Given the description of an element on the screen output the (x, y) to click on. 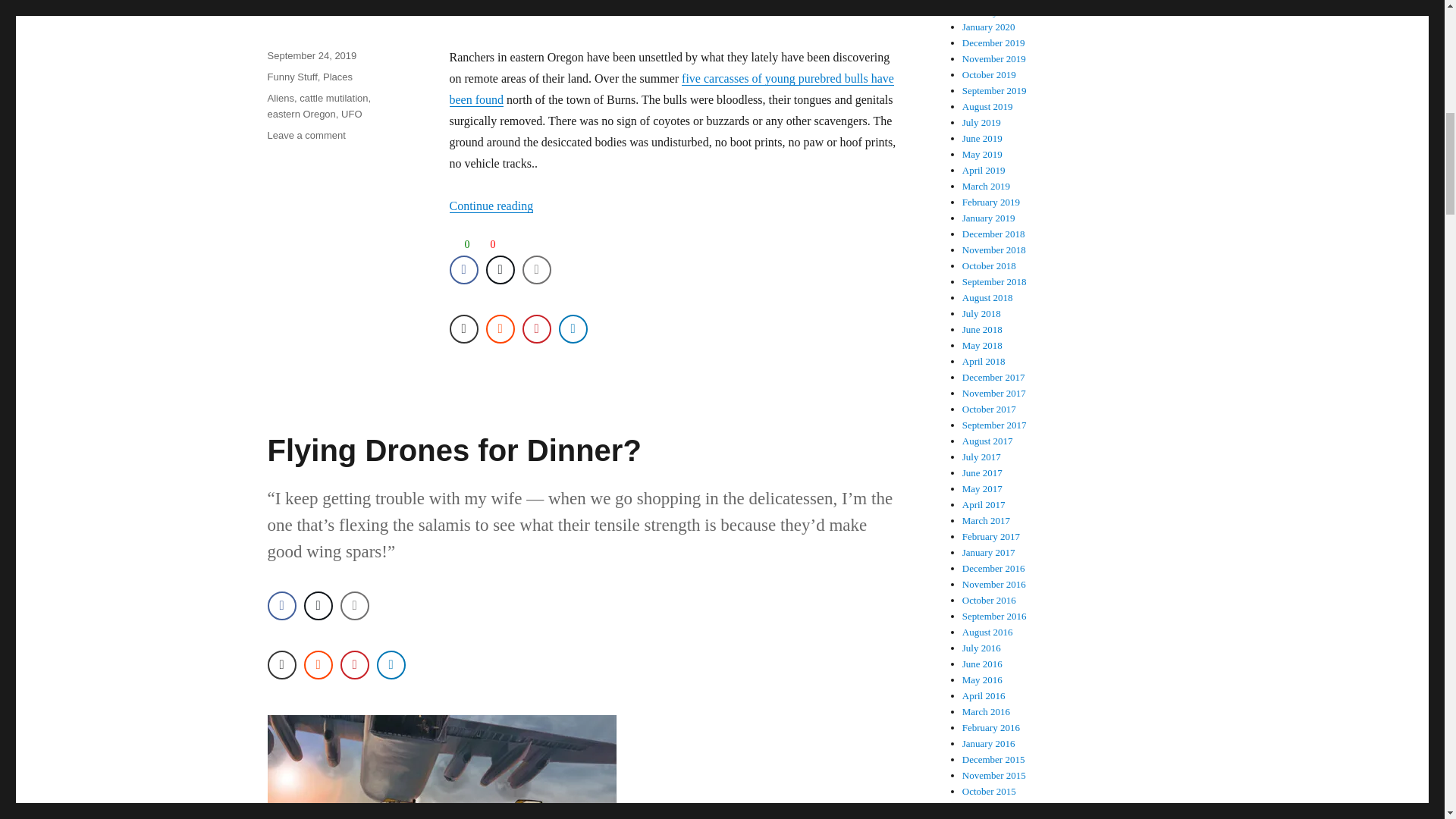
Flying Drones for Dinner? (453, 450)
Places (337, 76)
cattle mutilation (333, 98)
eastern Oregon (300, 113)
UFO (350, 113)
Aliens (280, 98)
September 24, 2019 (311, 55)
Funny Stuff (291, 76)
five carcasses of young purebred bulls have been found (305, 134)
